Given the description of an element on the screen output the (x, y) to click on. 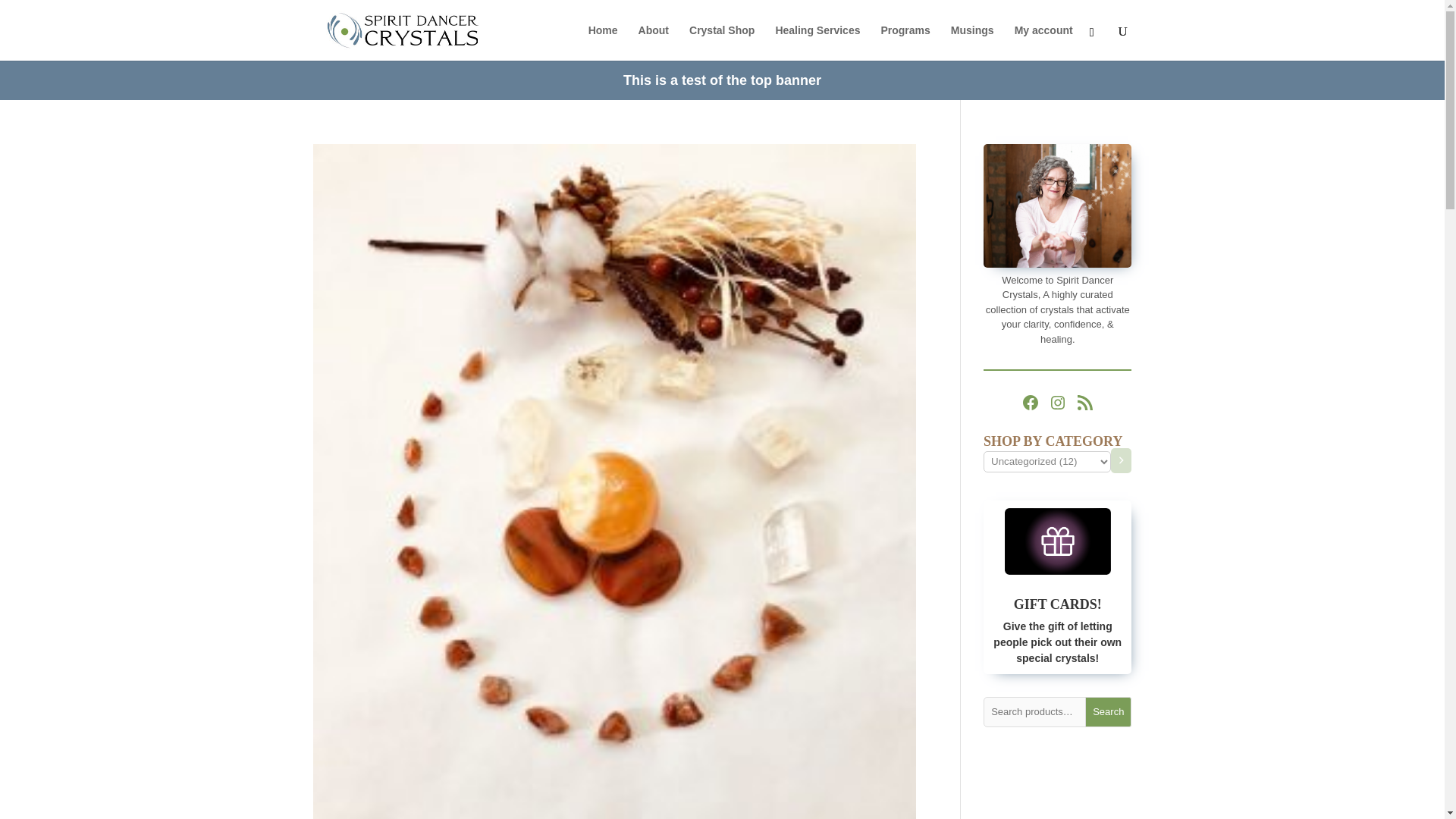
Programs (905, 42)
Musings (972, 42)
Crystal Shop (721, 42)
Healing Services (817, 42)
View Healing Services (1369, 49)
My account (1043, 42)
